Given the description of an element on the screen output the (x, y) to click on. 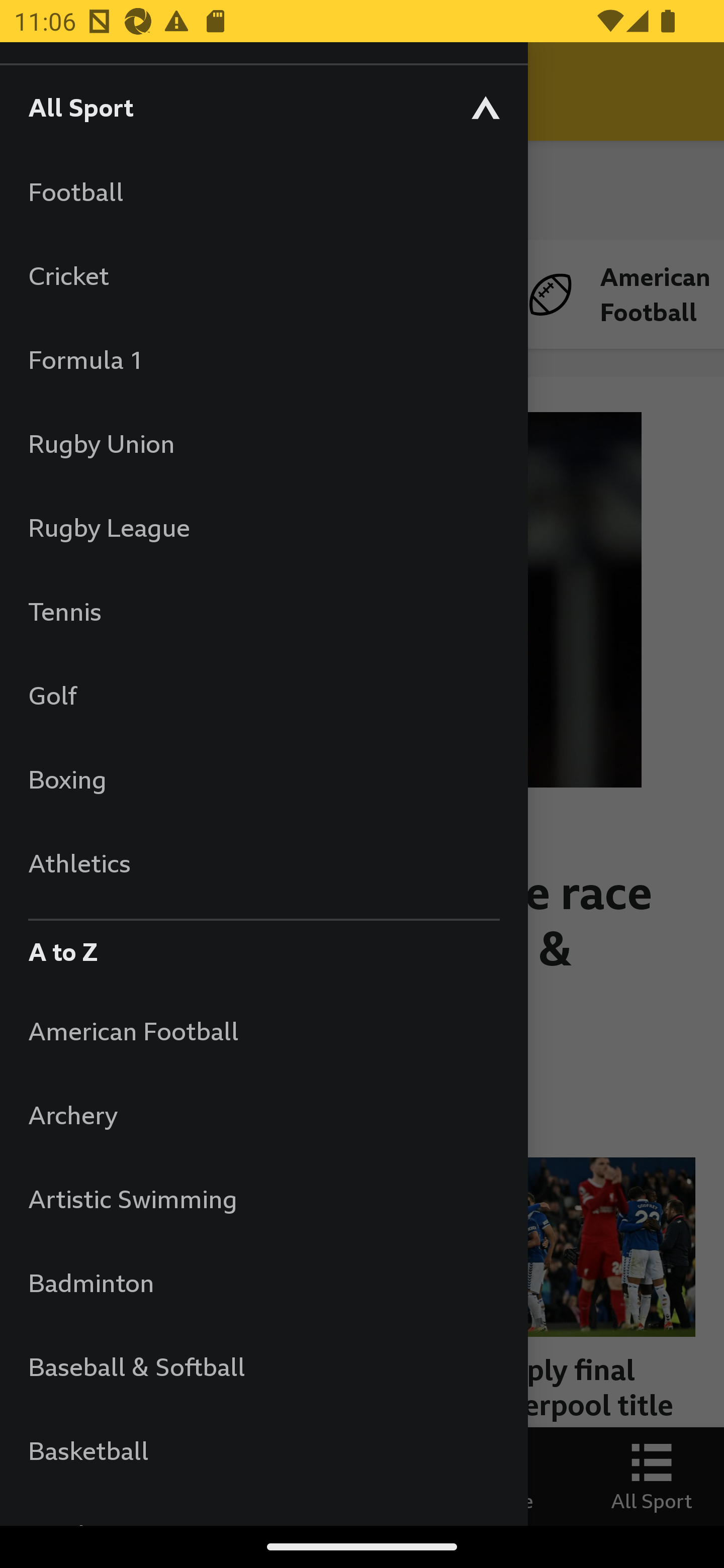
All Sport (263, 106)
Football (263, 190)
Cricket (263, 275)
Formula 1 (263, 358)
Rugby Union (263, 443)
Rugby League (263, 526)
Tennis (263, 611)
Golf (263, 694)
Boxing (263, 778)
Athletics (263, 862)
A to Z (263, 946)
American Football (263, 1029)
Archery (263, 1114)
Artistic Swimming (263, 1198)
Badminton (263, 1282)
Baseball & Softball (263, 1366)
Basketball (263, 1450)
